Given the description of an element on the screen output the (x, y) to click on. 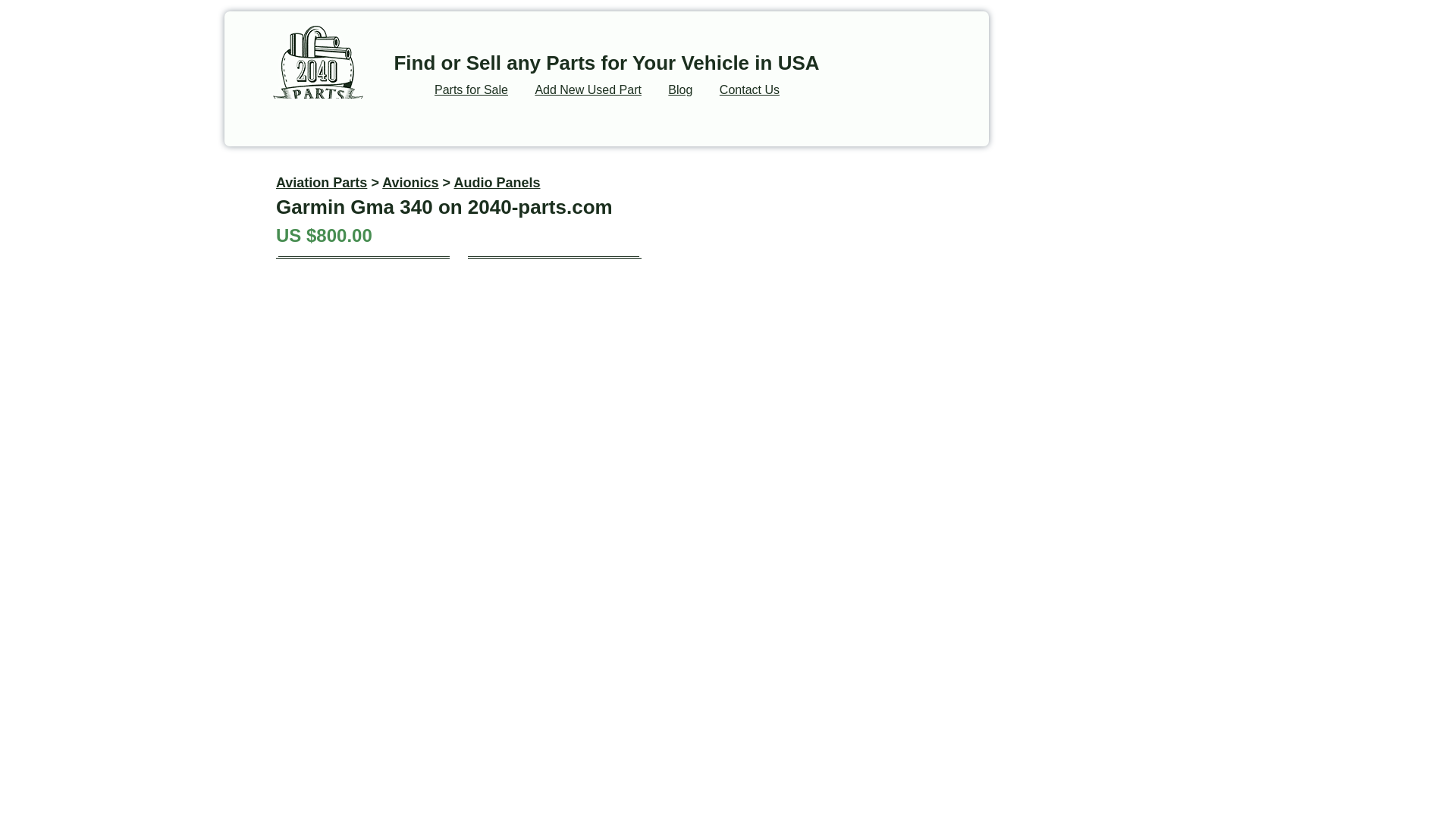
Aviation Parts (321, 182)
Avionics (409, 182)
Blog (680, 89)
Contact Us (748, 89)
Parts for Sale (470, 89)
Audio Panels (496, 182)
Add New Used Part (588, 89)
